Given the description of an element on the screen output the (x, y) to click on. 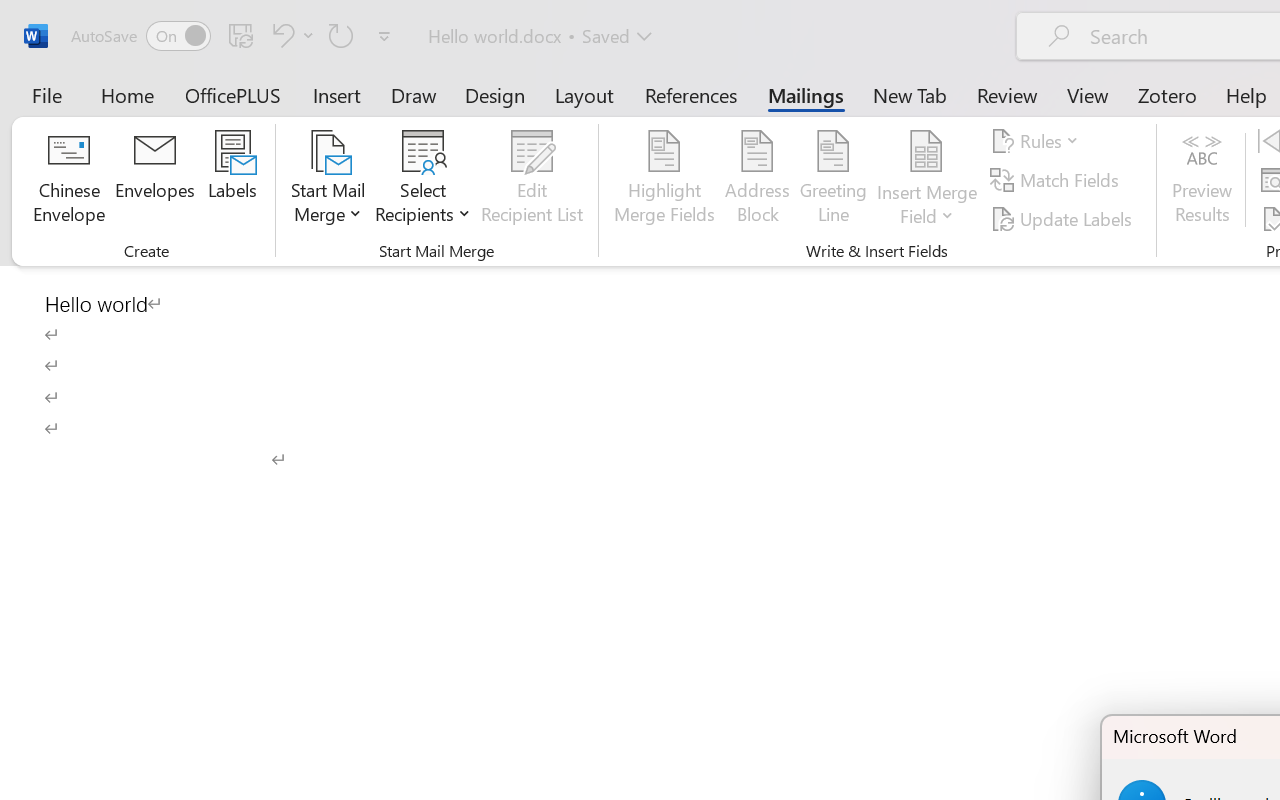
New Tab (909, 94)
Insert (337, 94)
Home (127, 94)
Review (1007, 94)
Insert Merge Field (927, 151)
View (1087, 94)
Layout (584, 94)
Highlight Merge Fields (664, 179)
Update Labels (1064, 218)
Customize Quick Access Toolbar (384, 35)
Preview Results (1202, 179)
OfficePLUS (233, 94)
Greeting Line... (833, 179)
